Given the description of an element on the screen output the (x, y) to click on. 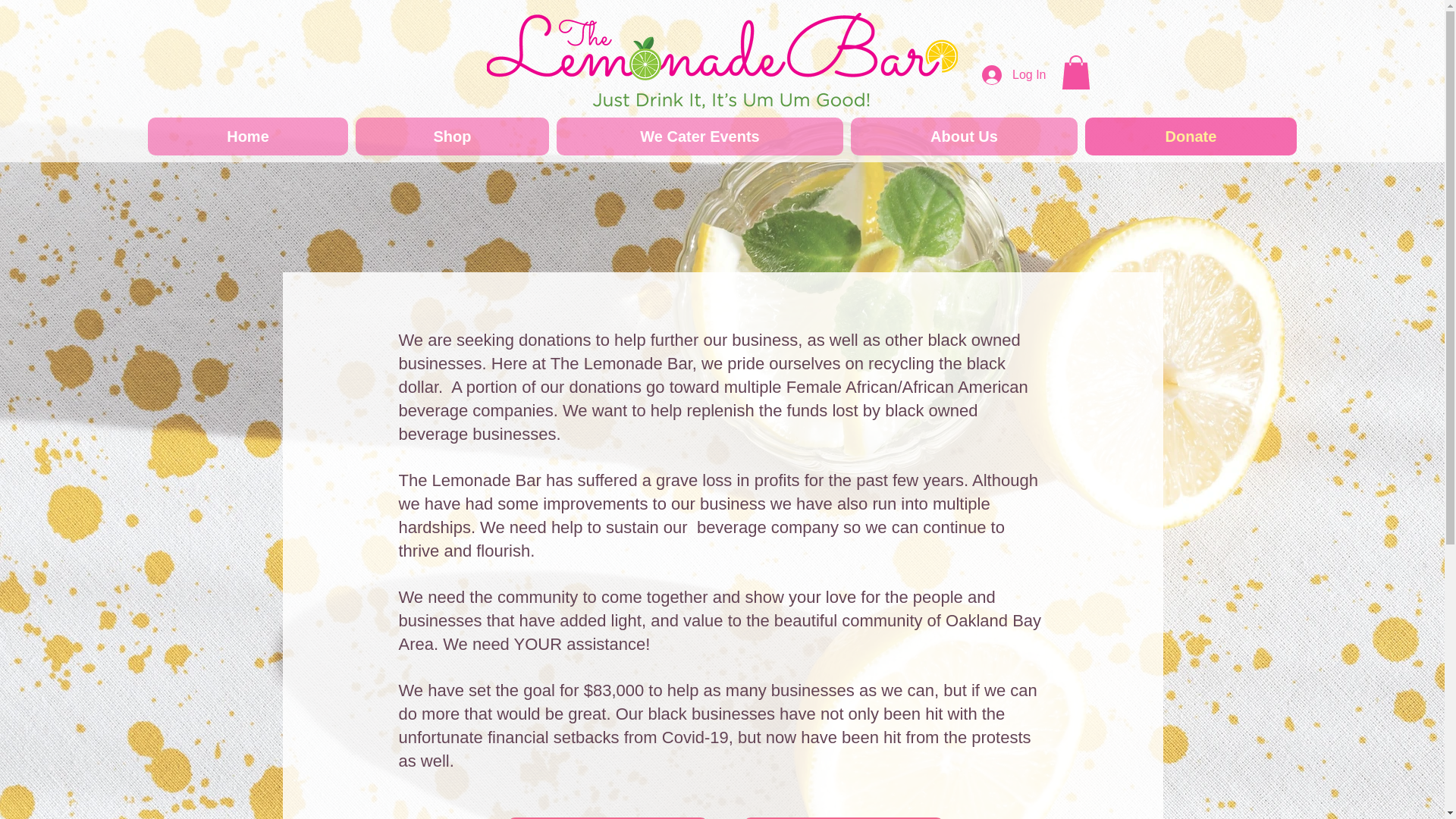
Log In (1014, 74)
We Cater Events (699, 136)
Home (247, 136)
Shop (451, 136)
About Us (963, 136)
Donate (1190, 136)
